Given the description of an element on the screen output the (x, y) to click on. 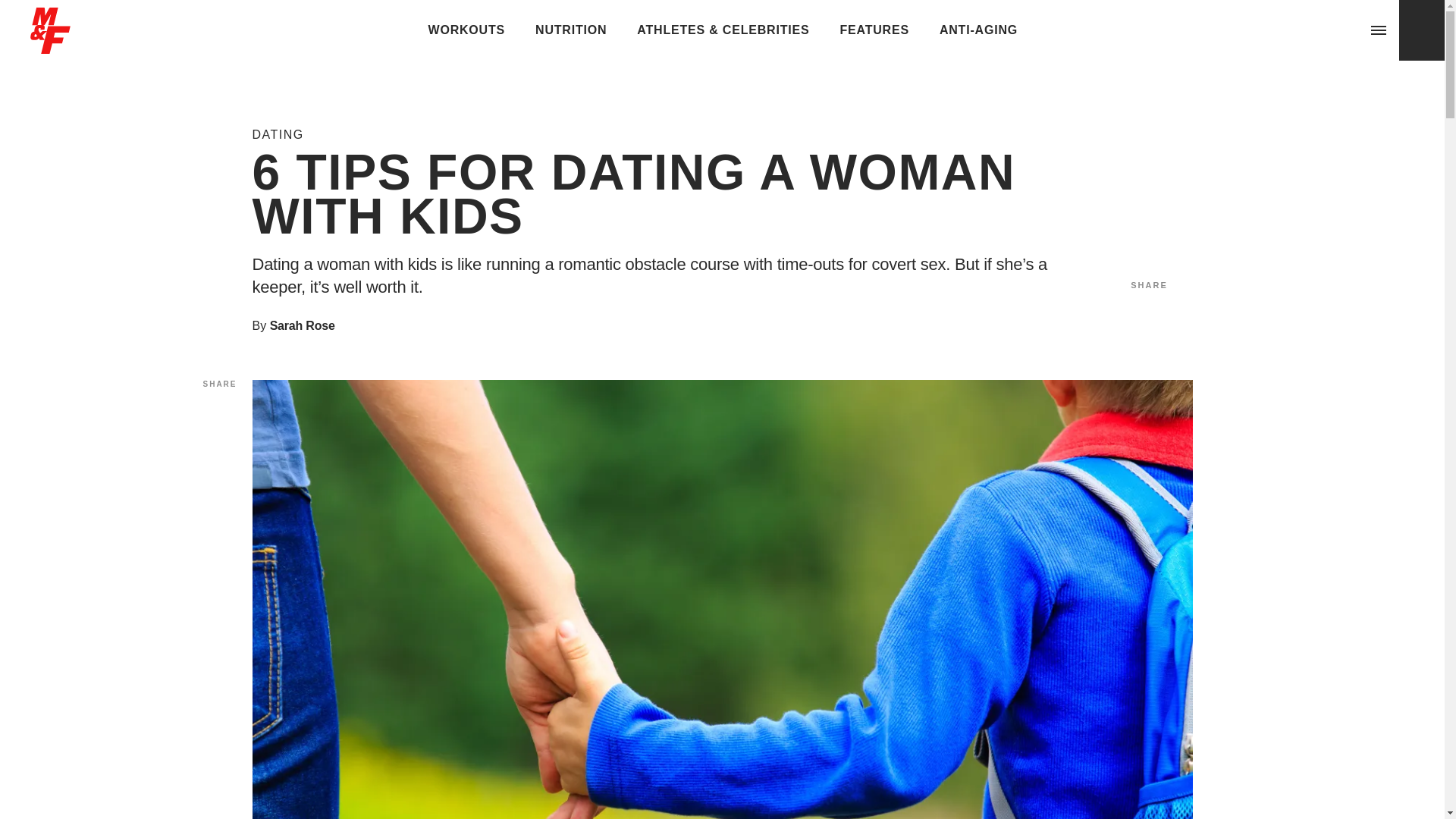
Click to share on Twitter (1146, 310)
Home (49, 47)
Click to share on Pinterest (1184, 310)
NUTRITION (570, 30)
Click to share on Twitter (219, 435)
Click to share on Pinterest (219, 464)
WORKOUTS (467, 30)
